Given the description of an element on the screen output the (x, y) to click on. 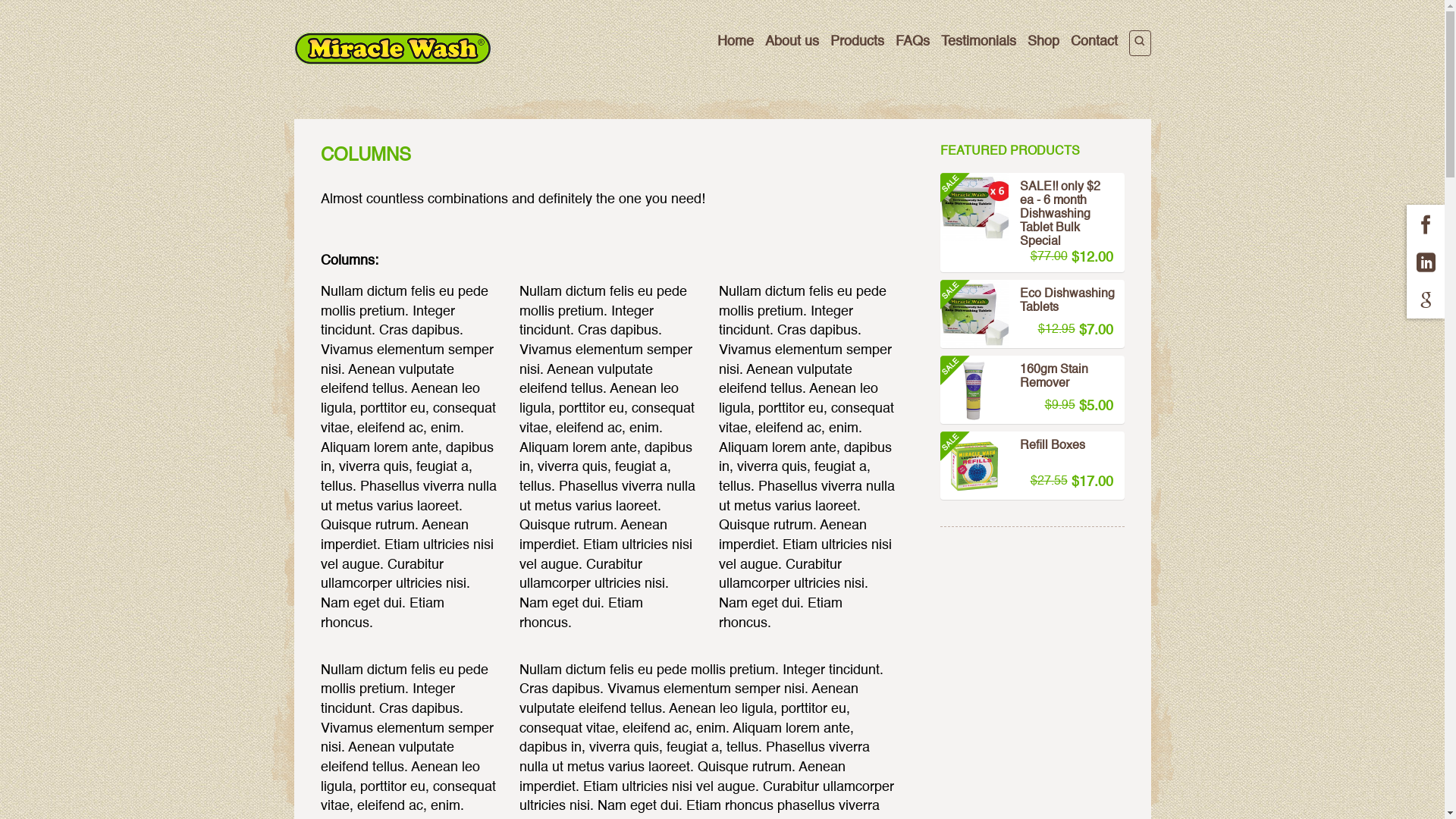
SALE
Eco Dishwashing Tablets Element type: text (1028, 303)
Shop Element type: text (1042, 41)
Products Element type: text (856, 41)
FAQs Element type: text (911, 41)
Home Element type: text (735, 41)
SALE
Refill Boxes Element type: text (1028, 455)
SALE
160gm Stain Remover Element type: text (1028, 379)
About us Element type: text (791, 41)
Testimonials Element type: text (977, 41)
Contact Element type: text (1093, 41)
